Given the description of an element on the screen output the (x, y) to click on. 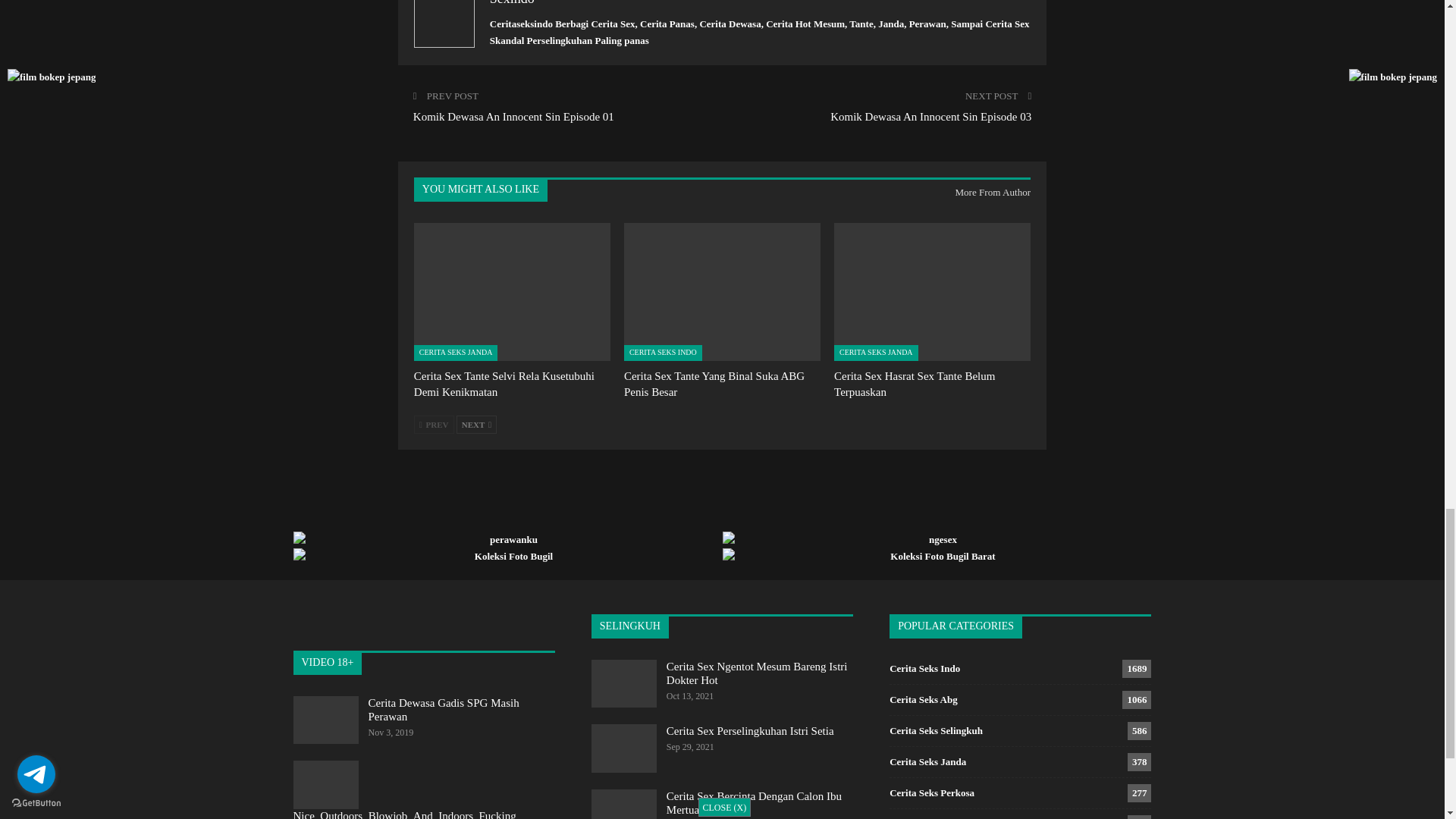
Previous (433, 424)
Cerita Sex Tante Selvi Rela Kusetubuhi Demi Kenikmatan (503, 384)
Cerita Sex Hasrat Sex Tante Belum Terpuaskan (914, 384)
Cerita Sex Hasrat Sex Tante Belum Terpuaskan (932, 291)
Cerita Sex Tante Selvi Rela Kusetubuhi Demi Kenikmatan (511, 291)
Cerita Sex Tante Yang Binal Suka ABG Penis Besar (722, 291)
Cerita Sex Tante Yang Binal Suka ABG Penis Besar (714, 384)
Next (476, 424)
